Given the description of an element on the screen output the (x, y) to click on. 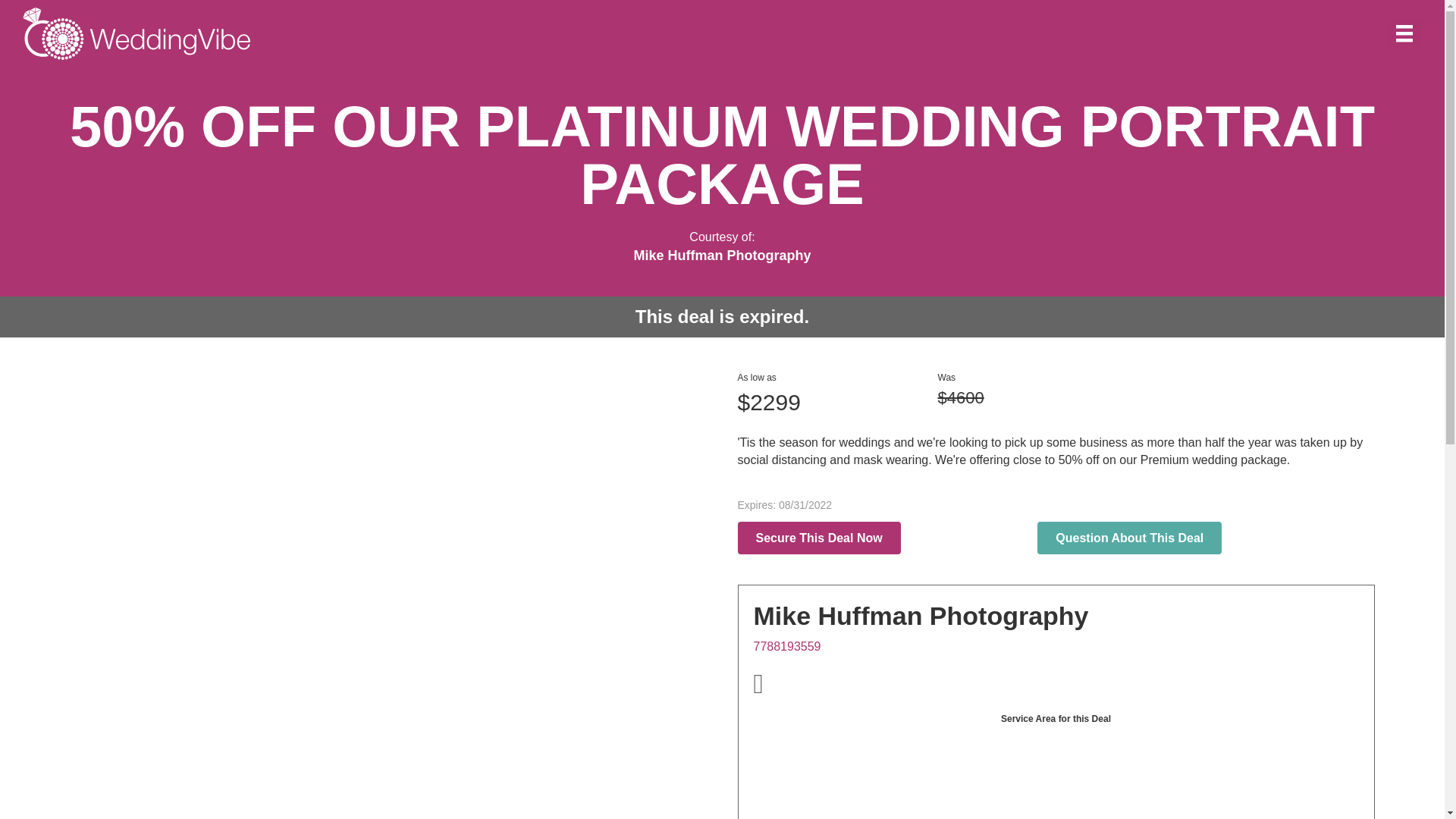
WeddingVibe-logo-magenta (136, 33)
